Given the description of an element on the screen output the (x, y) to click on. 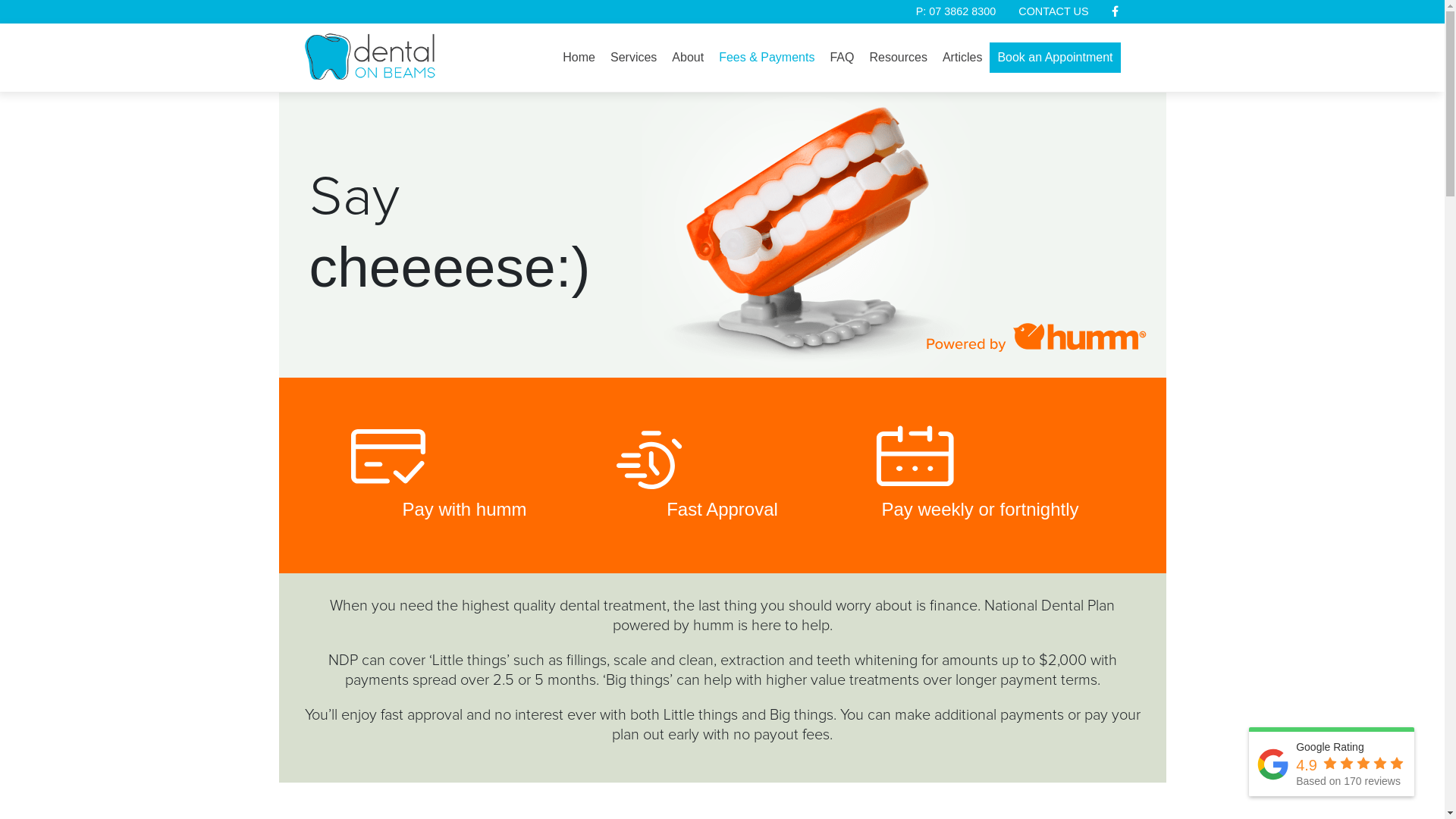
Dental on Beams - Healthy Happy Smiles Element type: hover (395, 55)
Book an Appointment Element type: text (1054, 57)
CONTACT US Element type: text (1053, 11)
FAQ Element type: text (841, 57)
Home Element type: text (578, 57)
Dental on Beams Element type: hover (369, 56)
Services Element type: text (633, 57)
Articles Element type: text (962, 57)
Resources Element type: text (897, 57)
About Element type: text (687, 57)
P: 07 3862 8300 Element type: text (956, 11)
Fees & Payments Element type: text (766, 57)
